Given the description of an element on the screen output the (x, y) to click on. 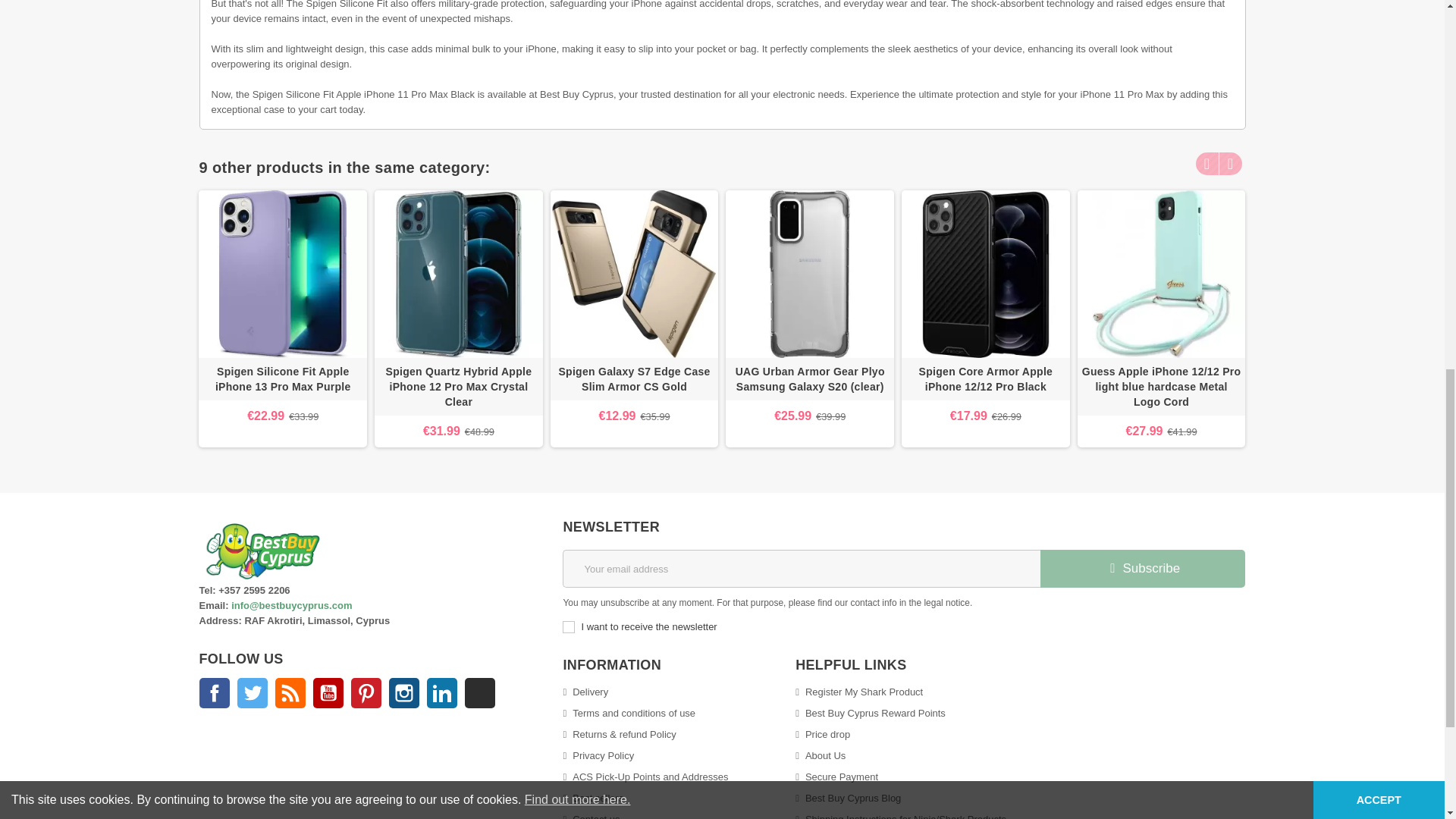
Spigen Silicone Fit Apple iPhone 13 Pro Max Purple (282, 274)
Spigen Silicone Fit Apple iPhone 13 Pro Max Purple (282, 378)
